Given the description of an element on the screen output the (x, y) to click on. 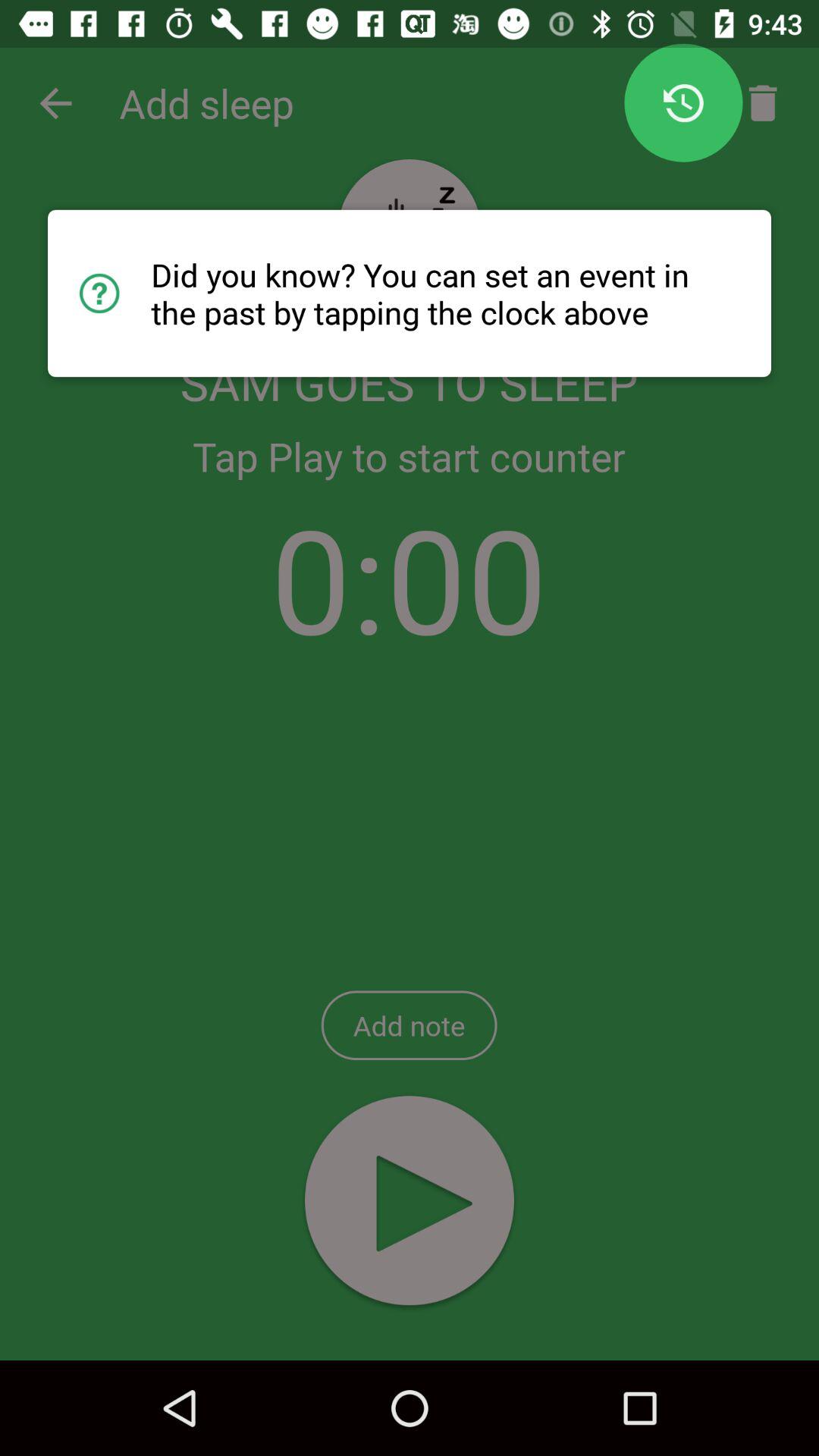
open item below the 0:00 (409, 1025)
